Given the description of an element on the screen output the (x, y) to click on. 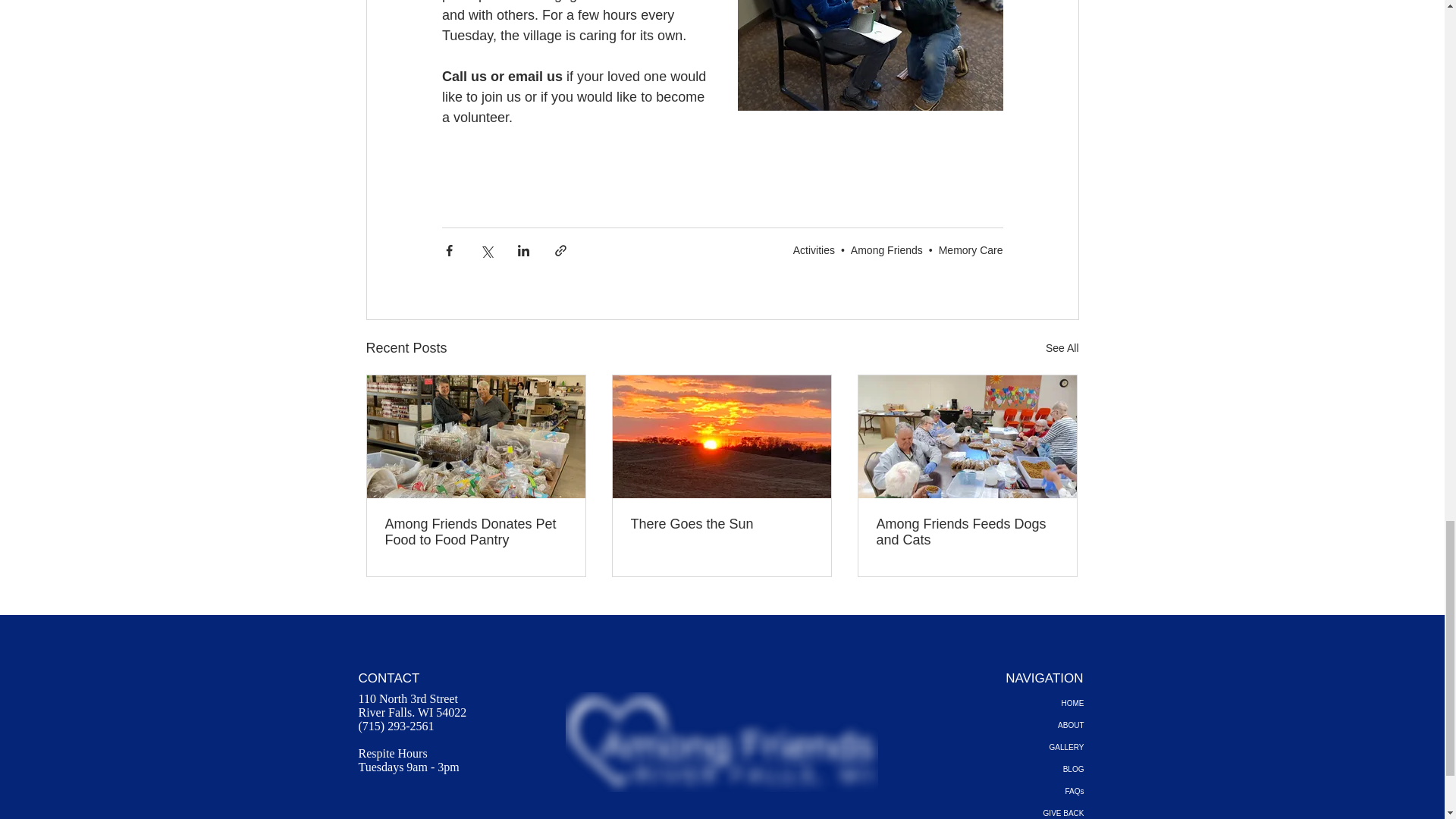
Activities (813, 250)
Among Friends (886, 250)
Memory Care (971, 250)
Among Friends Donates Pet Food to Food Pantry (476, 531)
River Falls. WI 54022 (411, 712)
See All (1061, 348)
110 North 3rd Street (407, 698)
Among Friends Feeds Dogs and Cats (967, 531)
There Goes the Sun (721, 524)
